Given the description of an element on the screen output the (x, y) to click on. 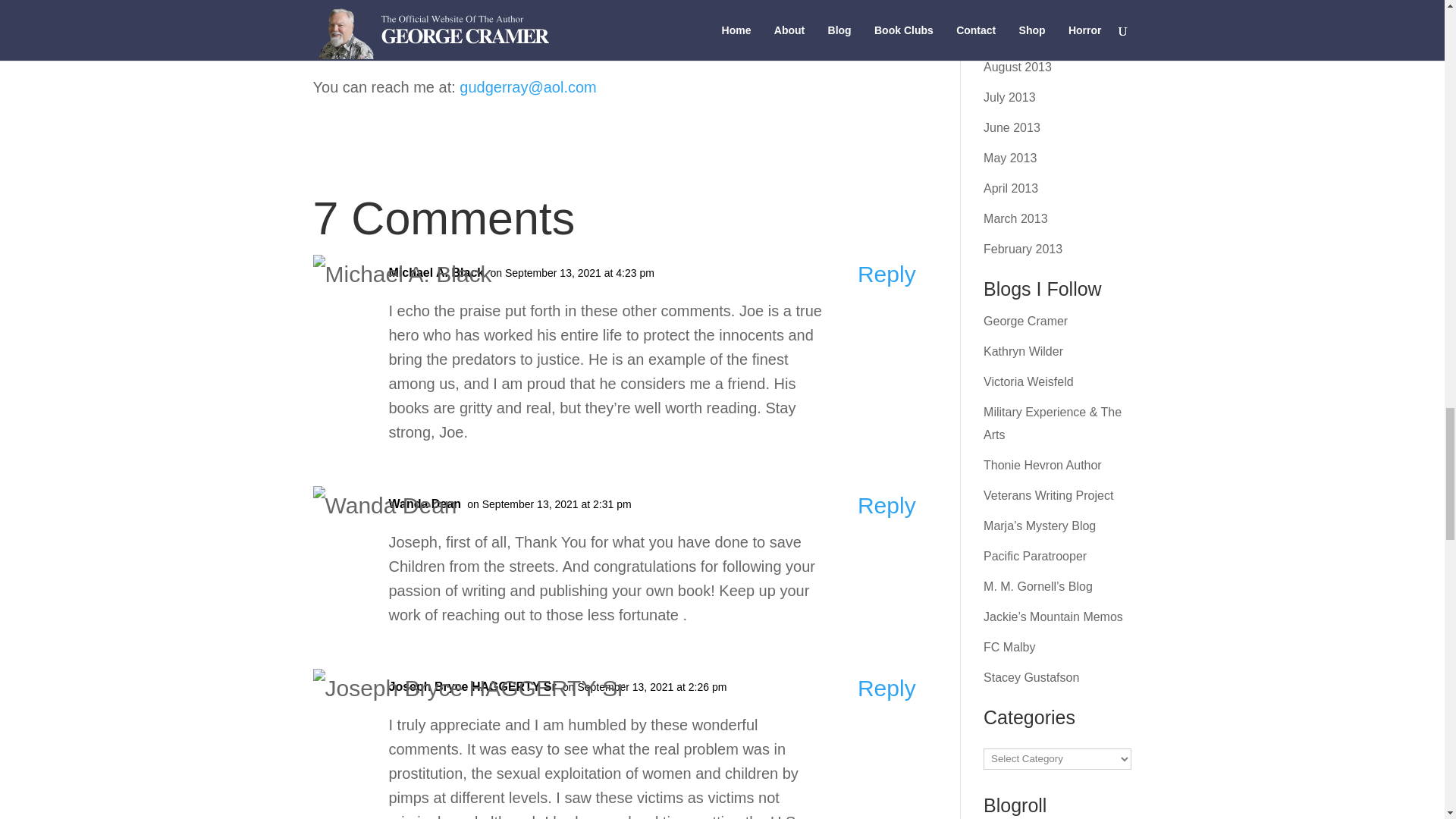
Reply (886, 505)
Reply (886, 688)
Reply (886, 273)
